Given the description of an element on the screen output the (x, y) to click on. 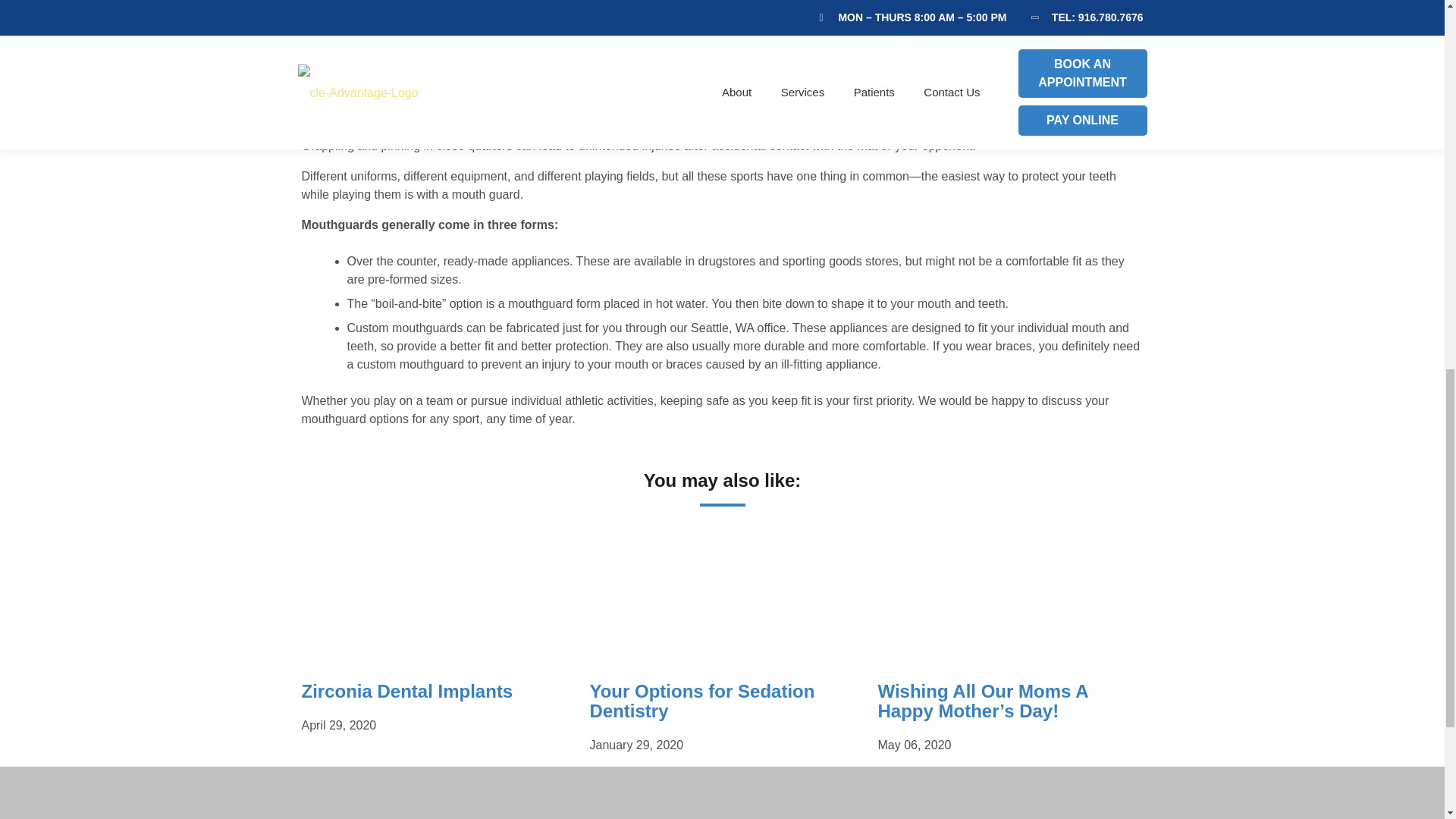
Zirconia Dental Implants (407, 690)
Your Options for Sedation Dentistry (701, 700)
